Given the description of an element on the screen output the (x, y) to click on. 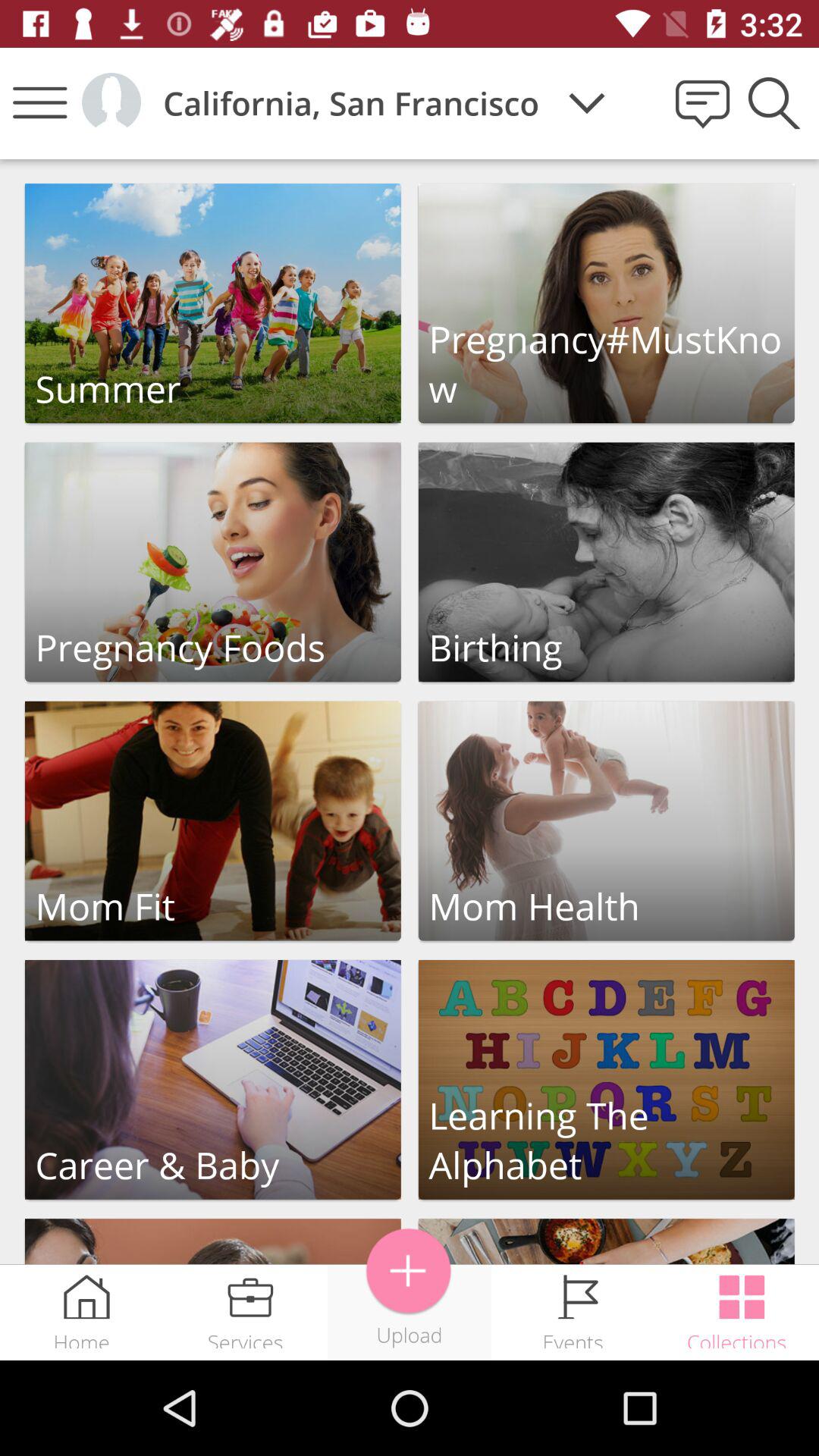
open mom fit section (212, 820)
